Given the description of an element on the screen output the (x, y) to click on. 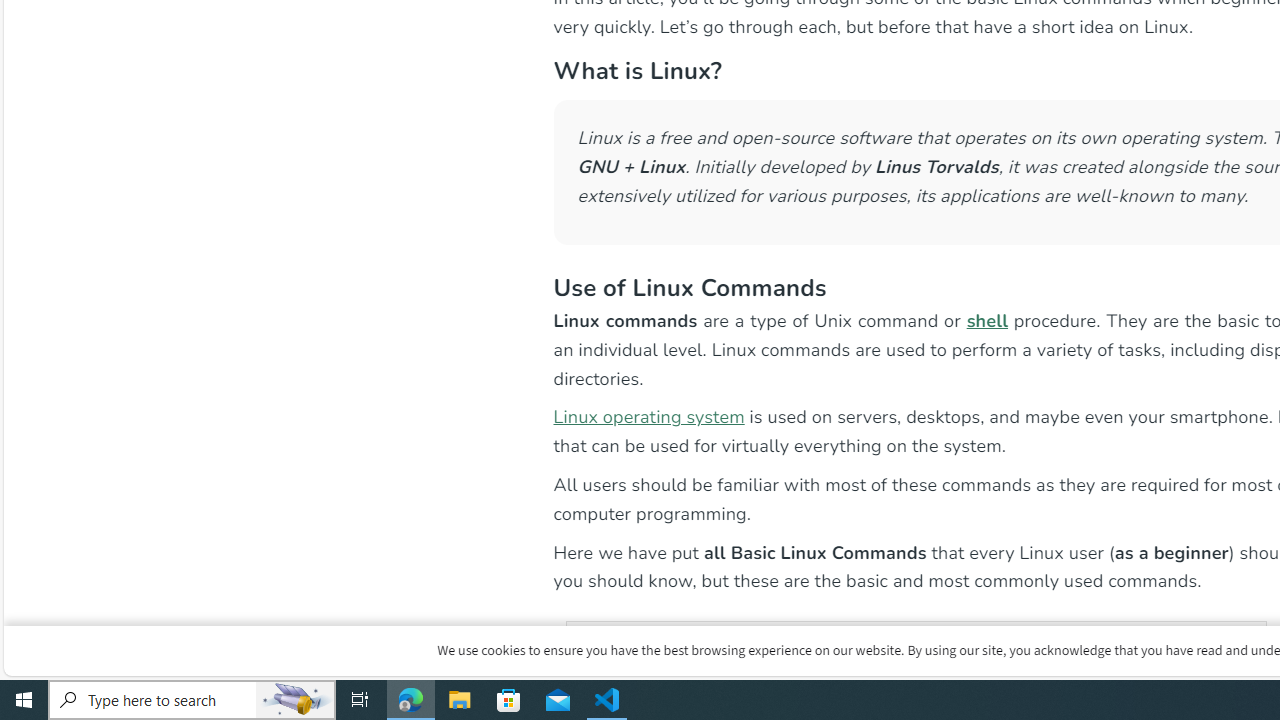
shell (987, 320)
Lightbox (1079, 13)
Linux operating system (648, 416)
